Given the description of an element on the screen output the (x, y) to click on. 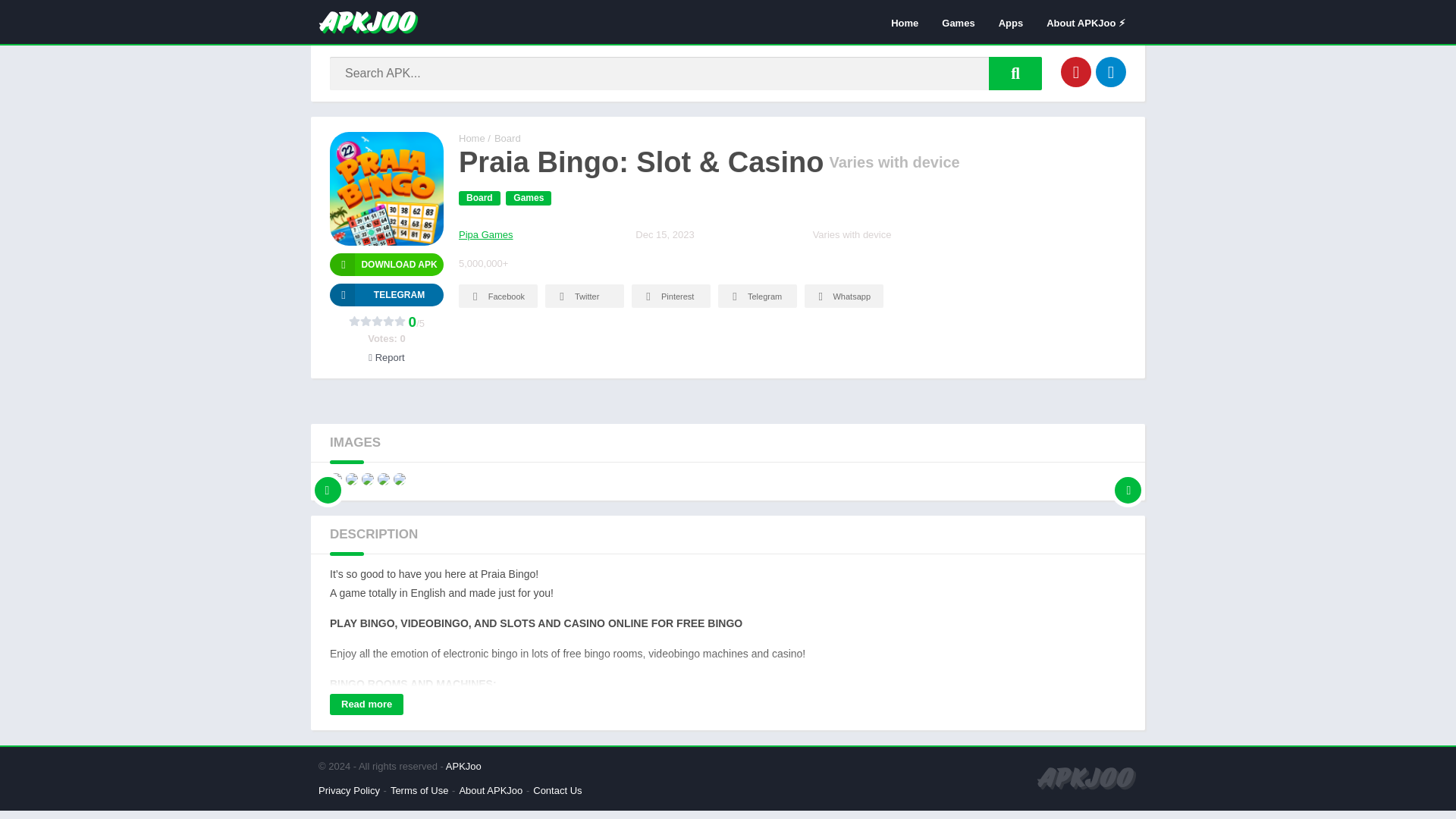
Contact Us (556, 790)
Terms of Use (419, 790)
Privacy Policy (349, 790)
About APKJoo (490, 790)
Facebook (497, 295)
Telegram (1110, 71)
Games (957, 22)
Whatsapp (844, 295)
Games (528, 197)
Telegram (387, 294)
